Given the description of an element on the screen output the (x, y) to click on. 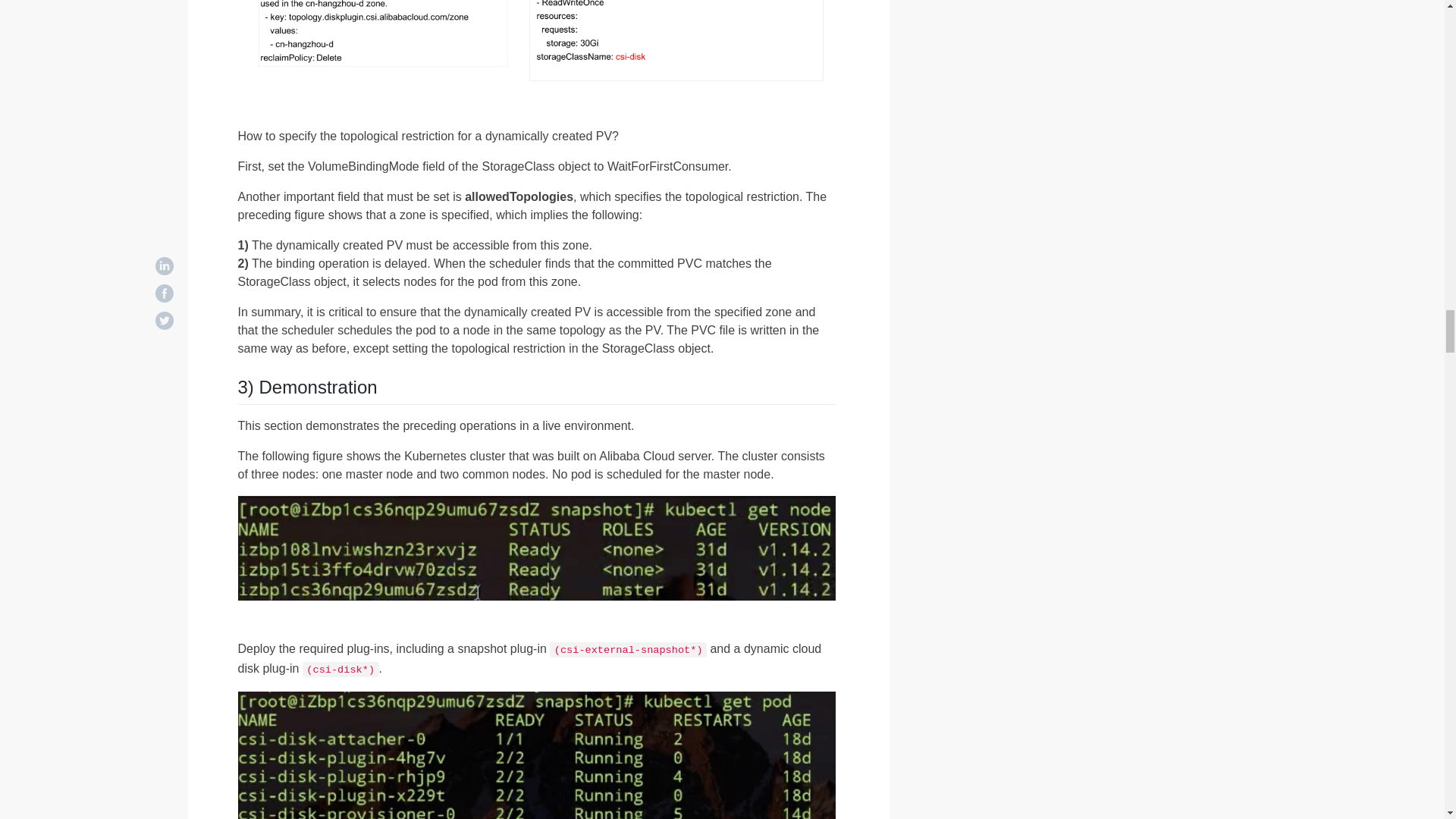
8 (536, 547)
9 (536, 755)
7 (536, 43)
